Given the description of an element on the screen output the (x, y) to click on. 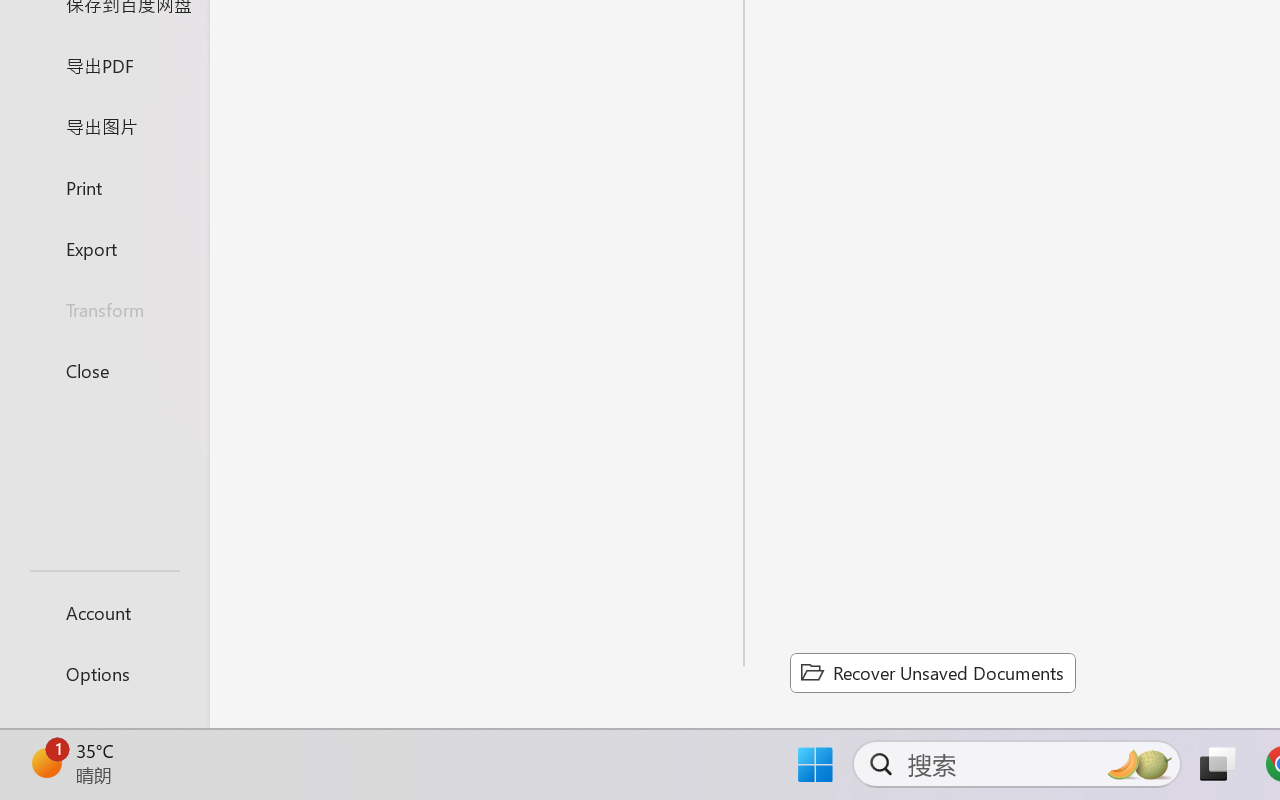
Print (104, 186)
Account (104, 612)
Transform (104, 309)
Options (104, 673)
Recover Unsaved Documents (932, 672)
Export (104, 248)
